Given the description of an element on the screen output the (x, y) to click on. 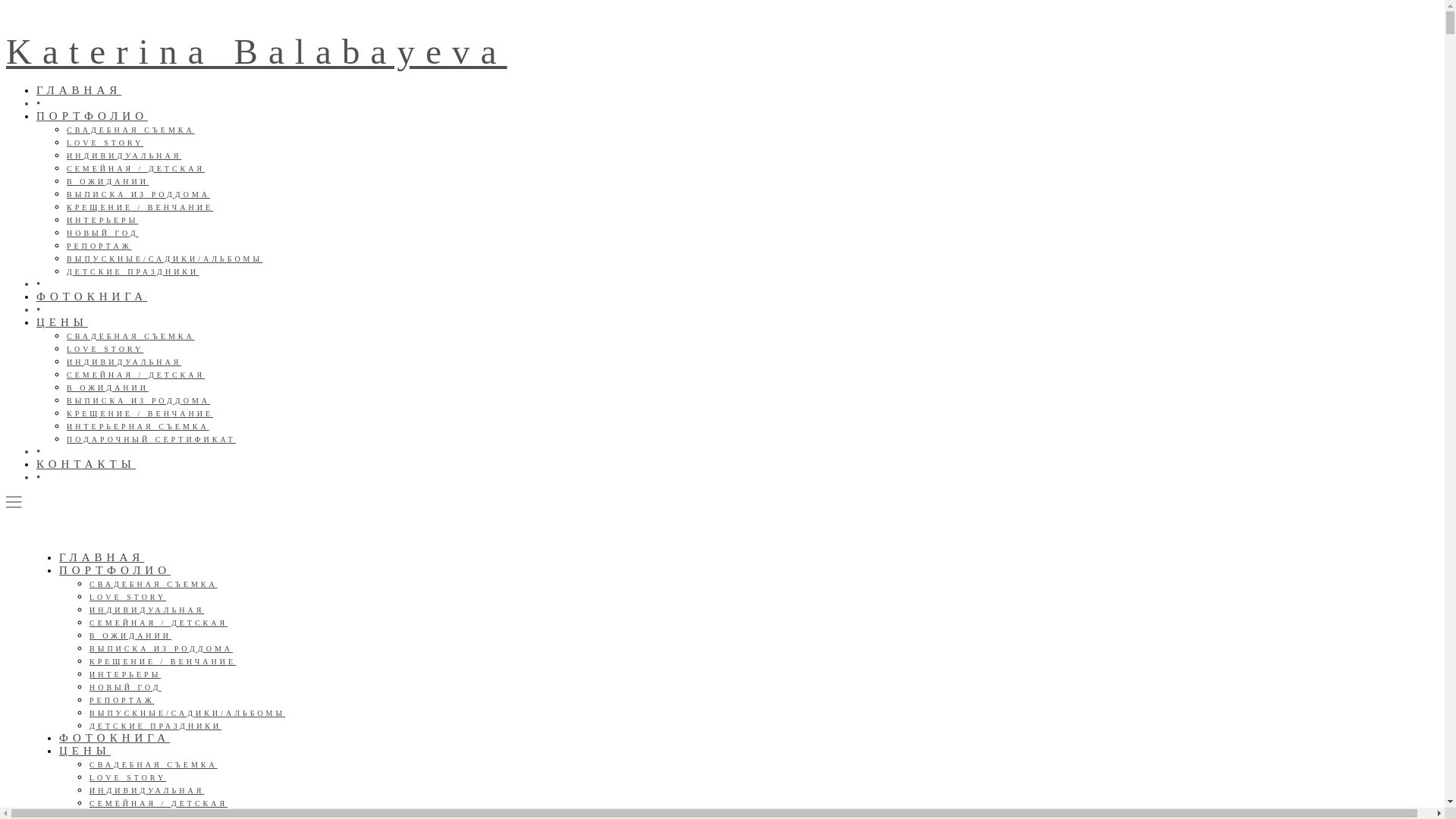
Katerina Balabayeva Element type: text (256, 51)
LOVE STORY Element type: text (127, 597)
LOVE STORY Element type: text (104, 142)
LOVE STORY Element type: text (104, 349)
LOVE STORY Element type: text (127, 777)
